Given the description of an element on the screen output the (x, y) to click on. 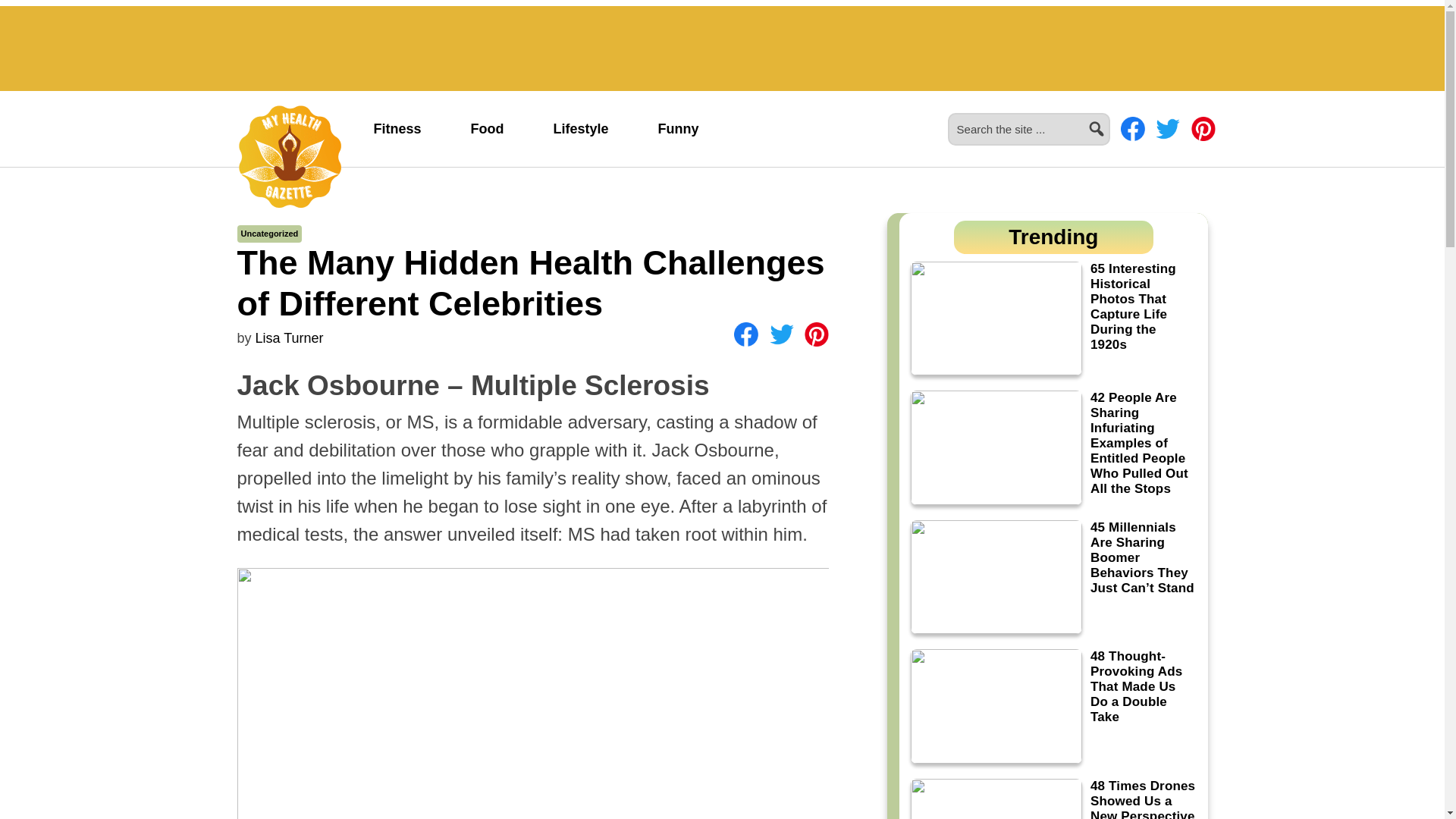
Search (1116, 119)
Fitness (397, 128)
Lisa Turner (289, 337)
Search (1116, 119)
48 Thought-Provoking Ads That Made Us Do a Double Take (1053, 706)
Uncategorized (269, 233)
Funny (678, 128)
